Given the description of an element on the screen output the (x, y) to click on. 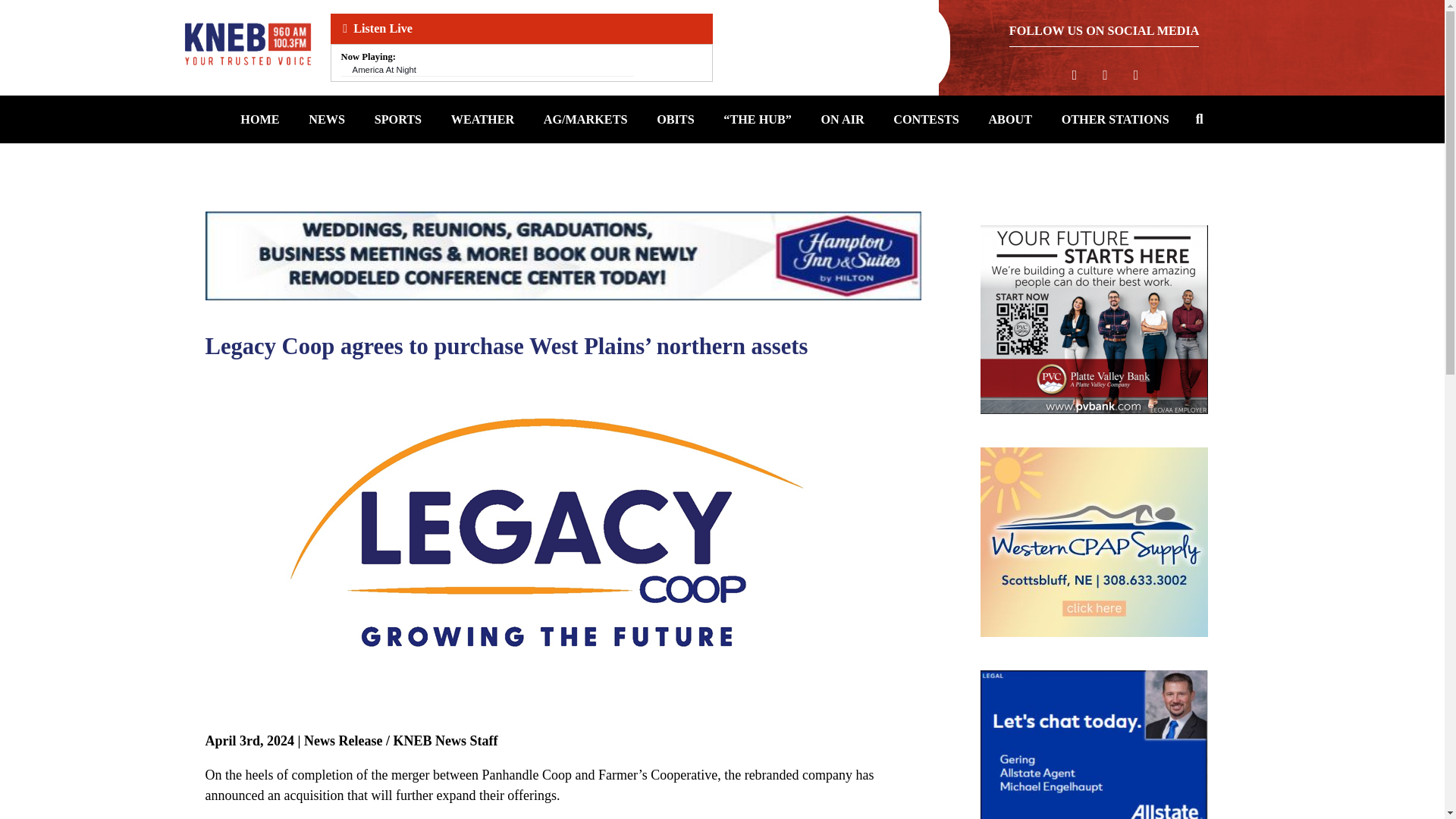
WEATHER (483, 119)
NEWS (326, 119)
Listen Live (521, 28)
HOME (259, 119)
SPORTS (398, 119)
America At Night (384, 69)
